Given the description of an element on the screen output the (x, y) to click on. 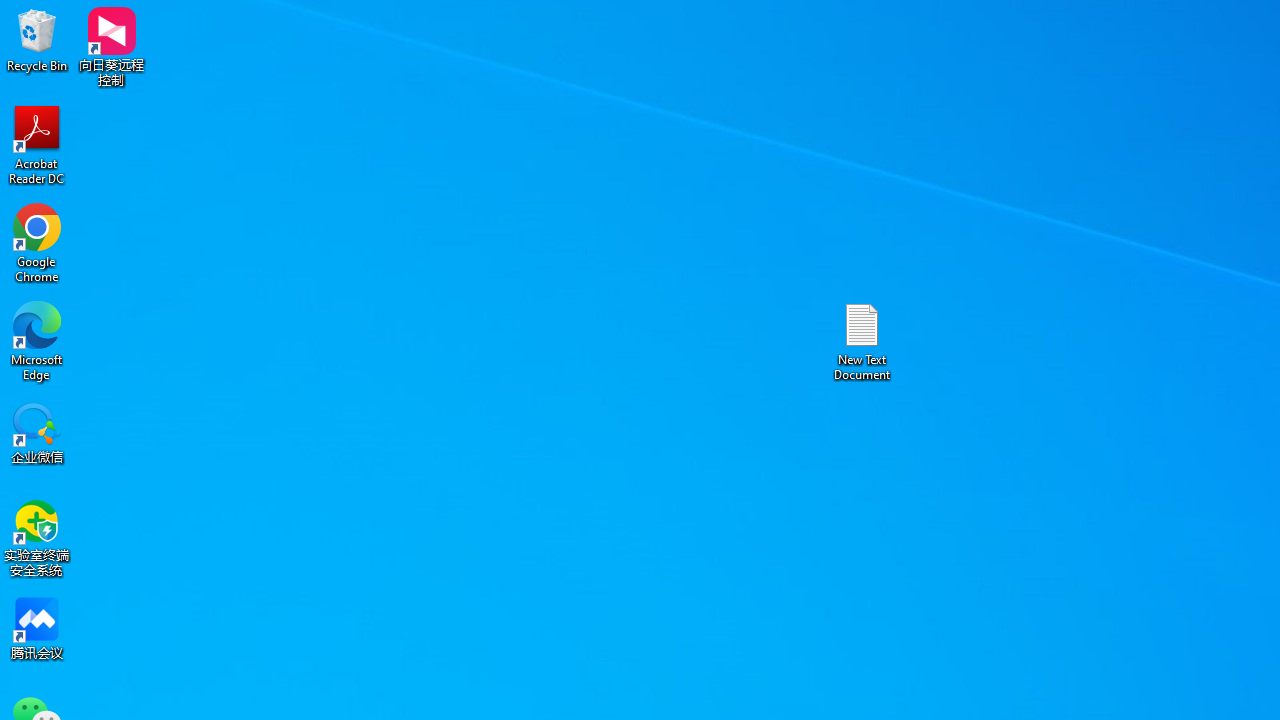
Photo Album... (259, 102)
Chart... (572, 102)
Draw Horizontal Text Box (905, 84)
Screenshot (202, 102)
